Given the description of an element on the screen output the (x, y) to click on. 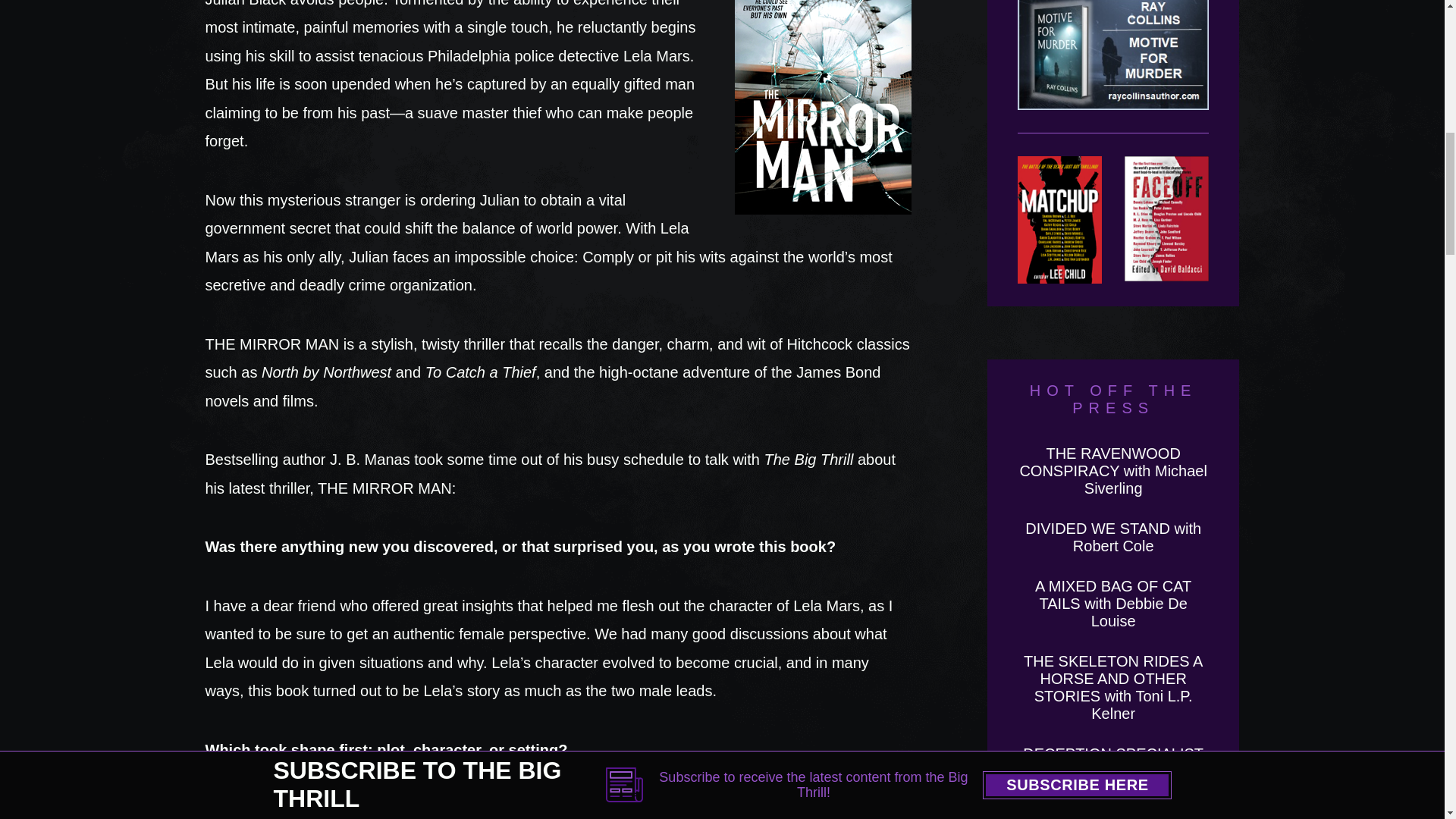
THE RAVENWOOD CONSPIRACY with Michael Siverling (1113, 470)
DIVIDED WE STAND with Robert Cole (1113, 537)
Motive for Murder by Ray Collins (1113, 66)
A MIXED BAG OF CAT TAILS with Debbie De Louise (1113, 603)
LIES AND DECEPTION with Laraine Stephens (1112, 811)
DECEPTION SPECIALIST with John Shepphird (1113, 762)
